Given the description of an element on the screen output the (x, y) to click on. 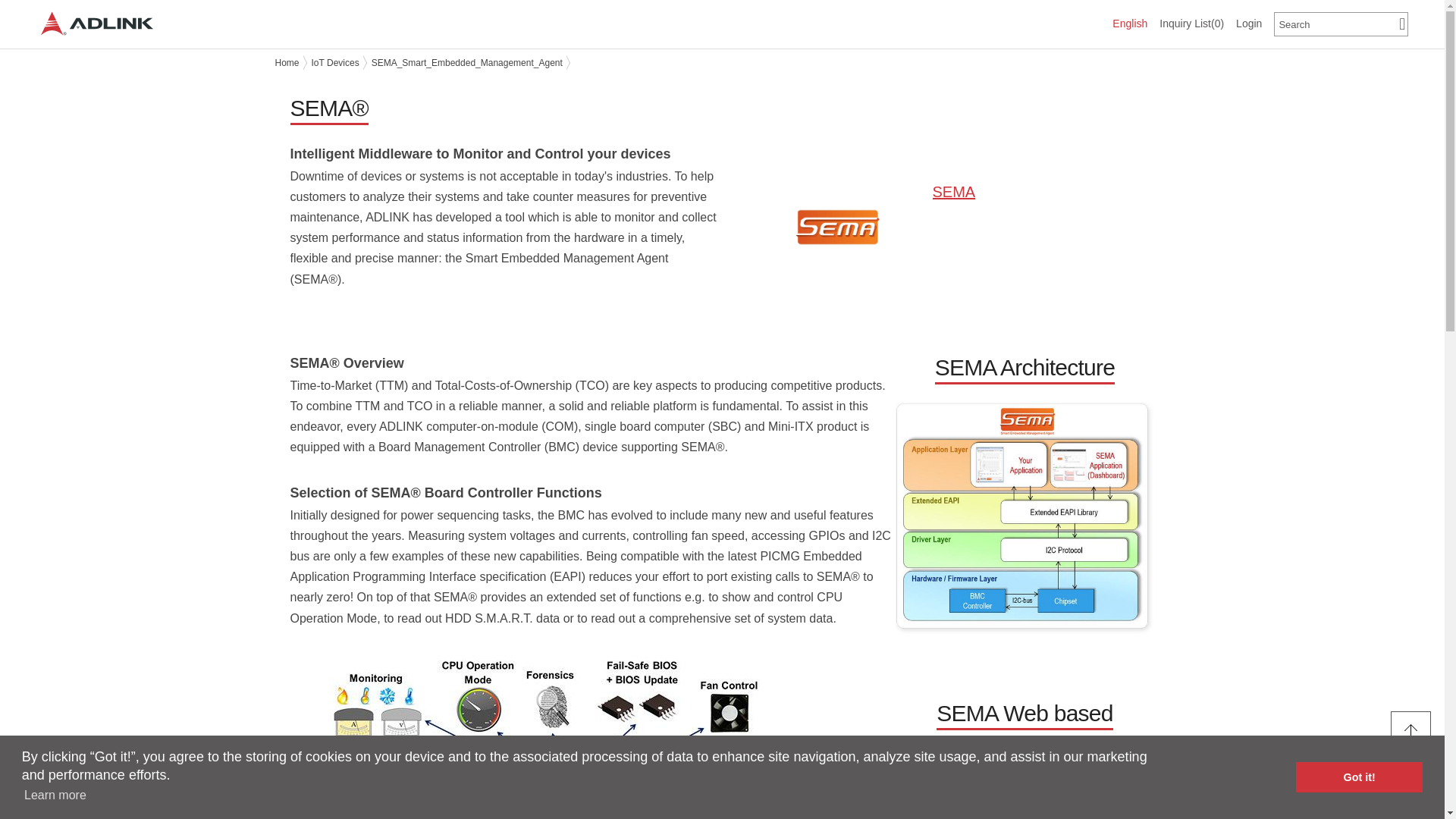
Learn more (54, 794)
Got it! (1358, 777)
Inquiry List (1191, 23)
Login (1249, 24)
Products (198, 23)
Search (1340, 24)
